Given the description of an element on the screen output the (x, y) to click on. 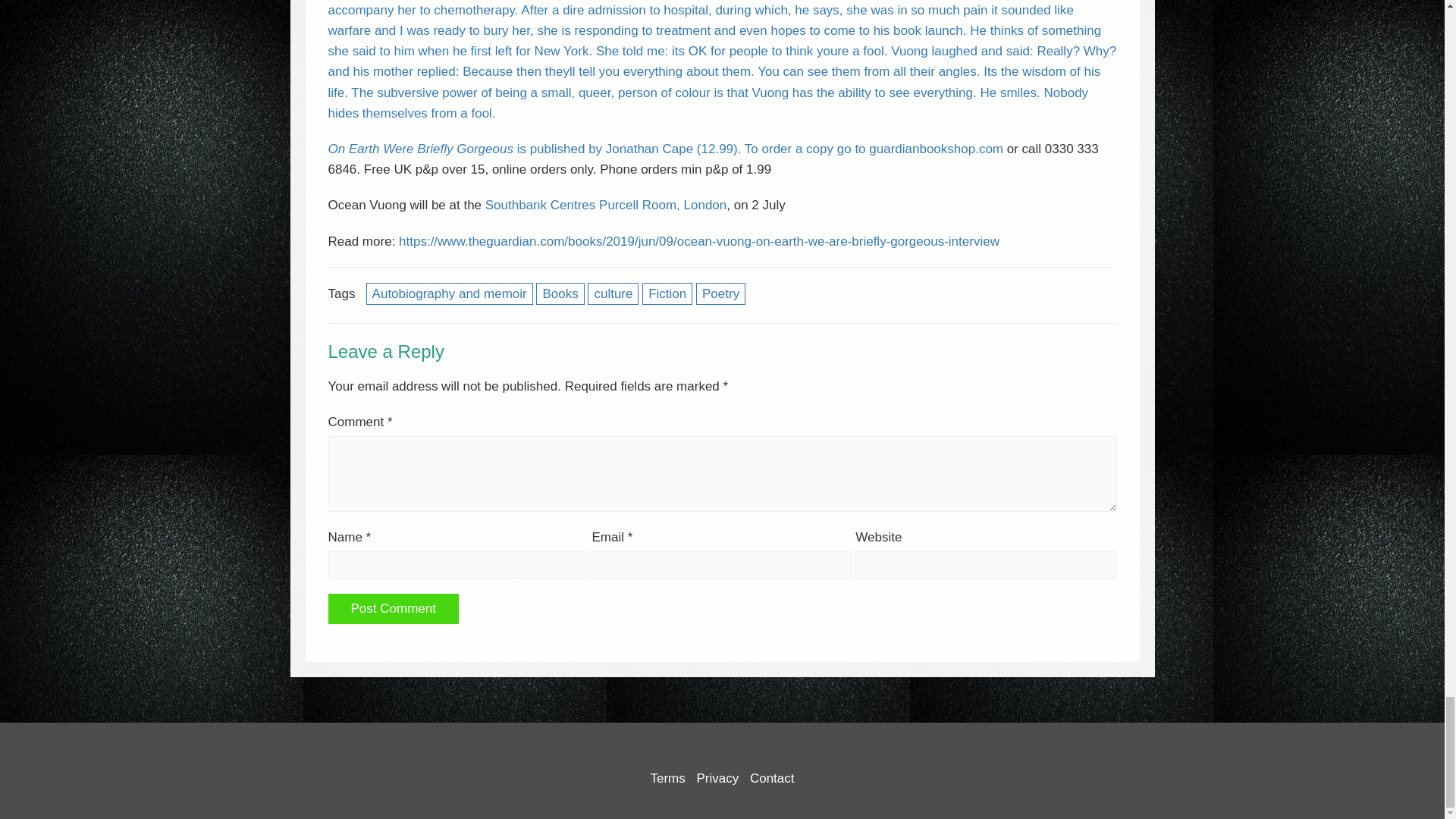
Autobiography and memoir (449, 293)
guardianbookshop.com (936, 148)
Post Comment (392, 608)
Privacy (716, 778)
culture (613, 293)
Southbank Centres Purcell Room, London (605, 205)
Terms (666, 778)
Poetry (720, 293)
Post Comment (392, 608)
Fiction (667, 293)
